Given the description of an element on the screen output the (x, y) to click on. 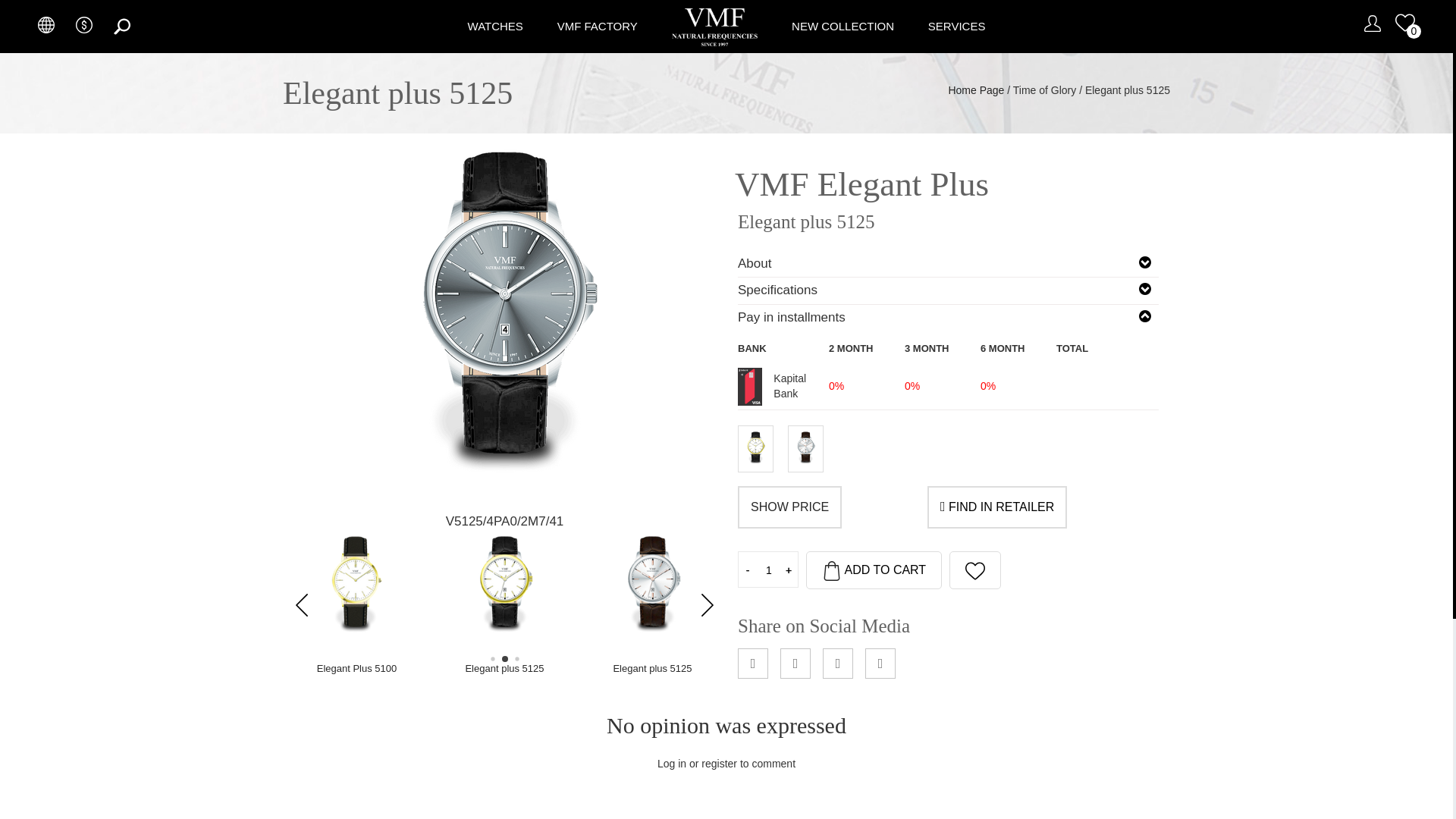
NEW COLLECTION (842, 25)
VMF fabriki (597, 25)
SERVICES (956, 25)
1 (768, 570)
WATCHES (494, 25)
0 (1404, 22)
Watches (494, 25)
VMF FACTORY (597, 25)
